Given the description of an element on the screen output the (x, y) to click on. 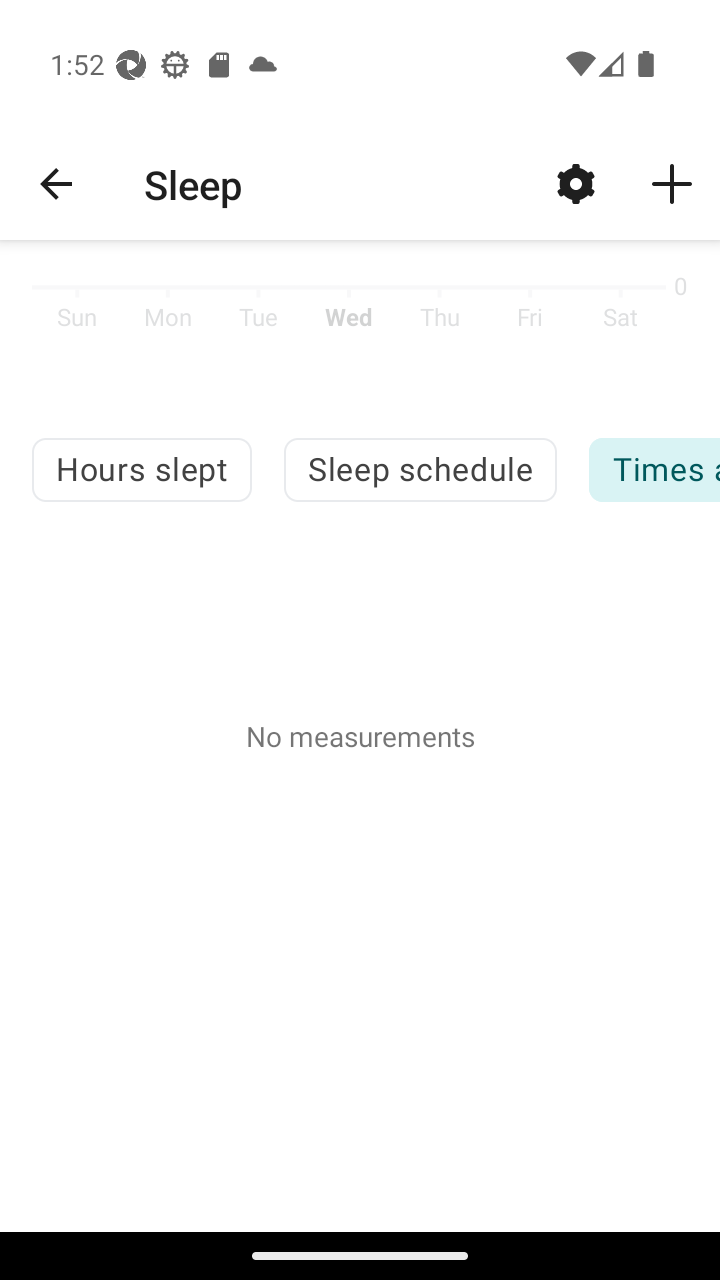
Navigate up (56, 184)
Adjust your goal (575, 183)
Tap to track sleep or
 log a past record (672, 183)
Hours slept (141, 470)
Sleep schedule (420, 470)
Times awakened (654, 470)
